Given the description of an element on the screen output the (x, y) to click on. 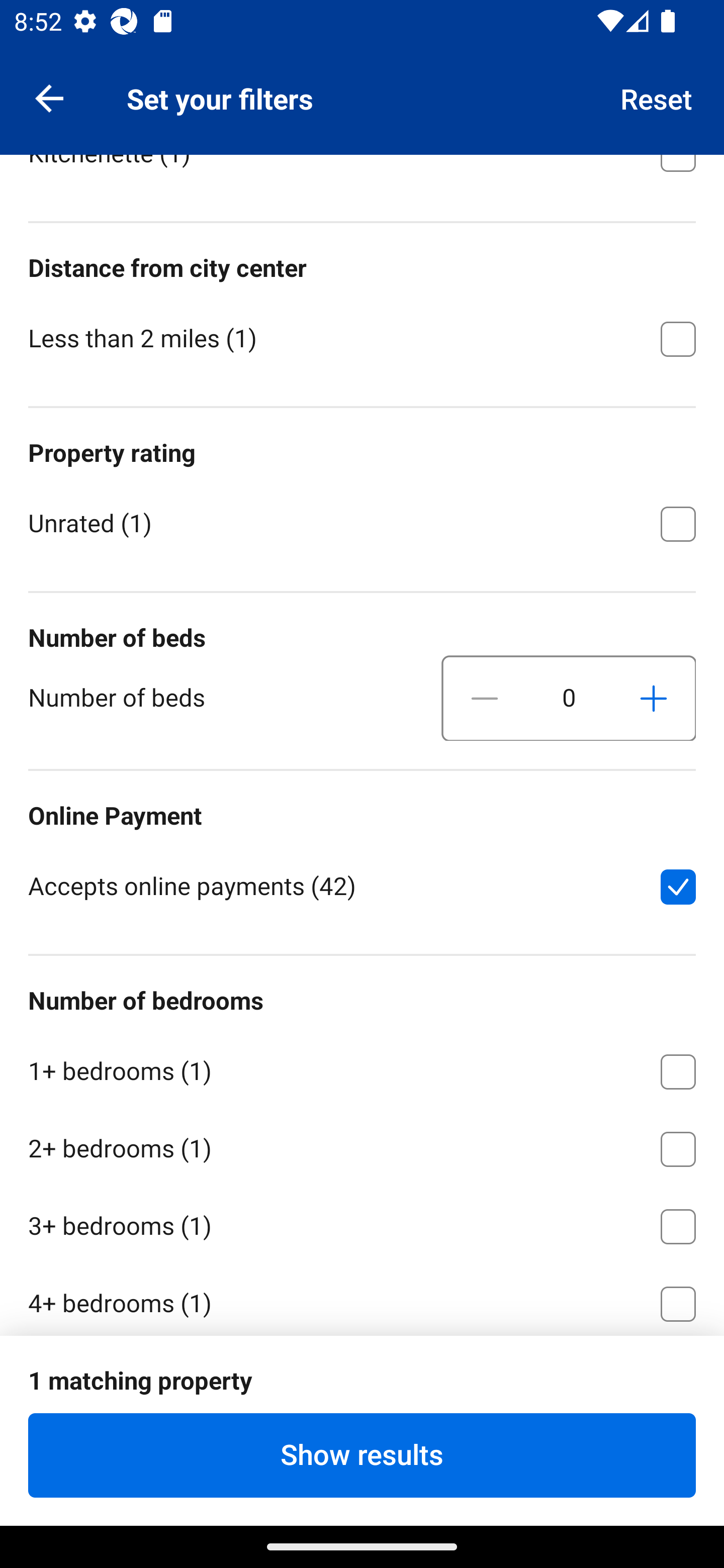
Terrace ⁦(1) (361, 72)
Navigate up (49, 97)
Reset (656, 97)
Less than 2 miles ⁦(1) (361, 336)
Unrated ⁦(1) (361, 521)
Decrease (484, 698)
Increase (653, 698)
Accepts online payments ⁦(42) (361, 885)
1+ bedrooms ⁦(1) (361, 1068)
2+ bedrooms ⁦(1) (361, 1145)
3+ bedrooms ⁦(1) (361, 1222)
4+ bedrooms ⁦(1) (361, 1298)
Show results (361, 1454)
